Given the description of an element on the screen output the (x, y) to click on. 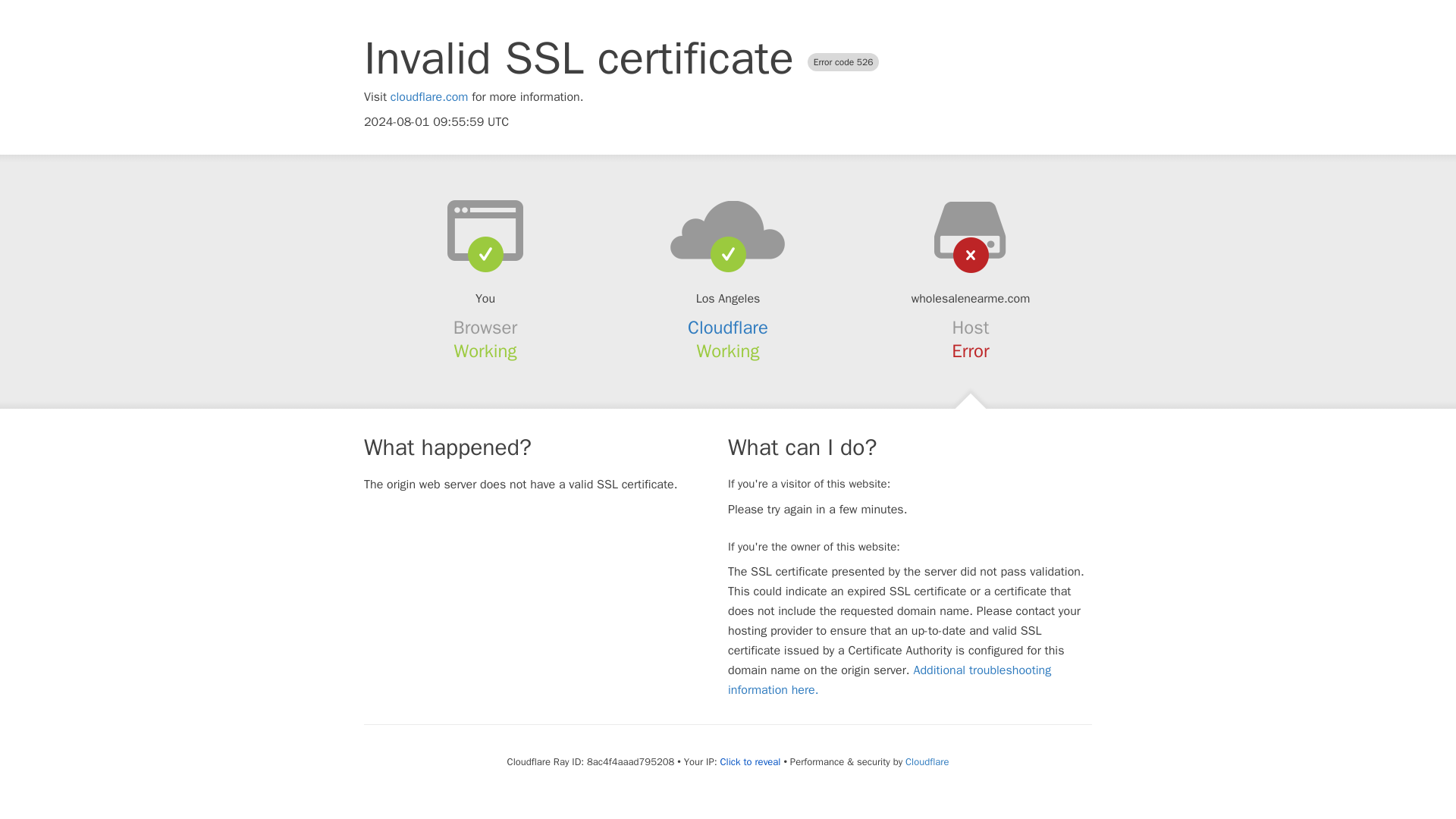
Cloudflare (927, 761)
cloudflare.com (429, 96)
Click to reveal (750, 762)
Additional troubleshooting information here. (889, 679)
Cloudflare (727, 327)
